Given the description of an element on the screen output the (x, y) to click on. 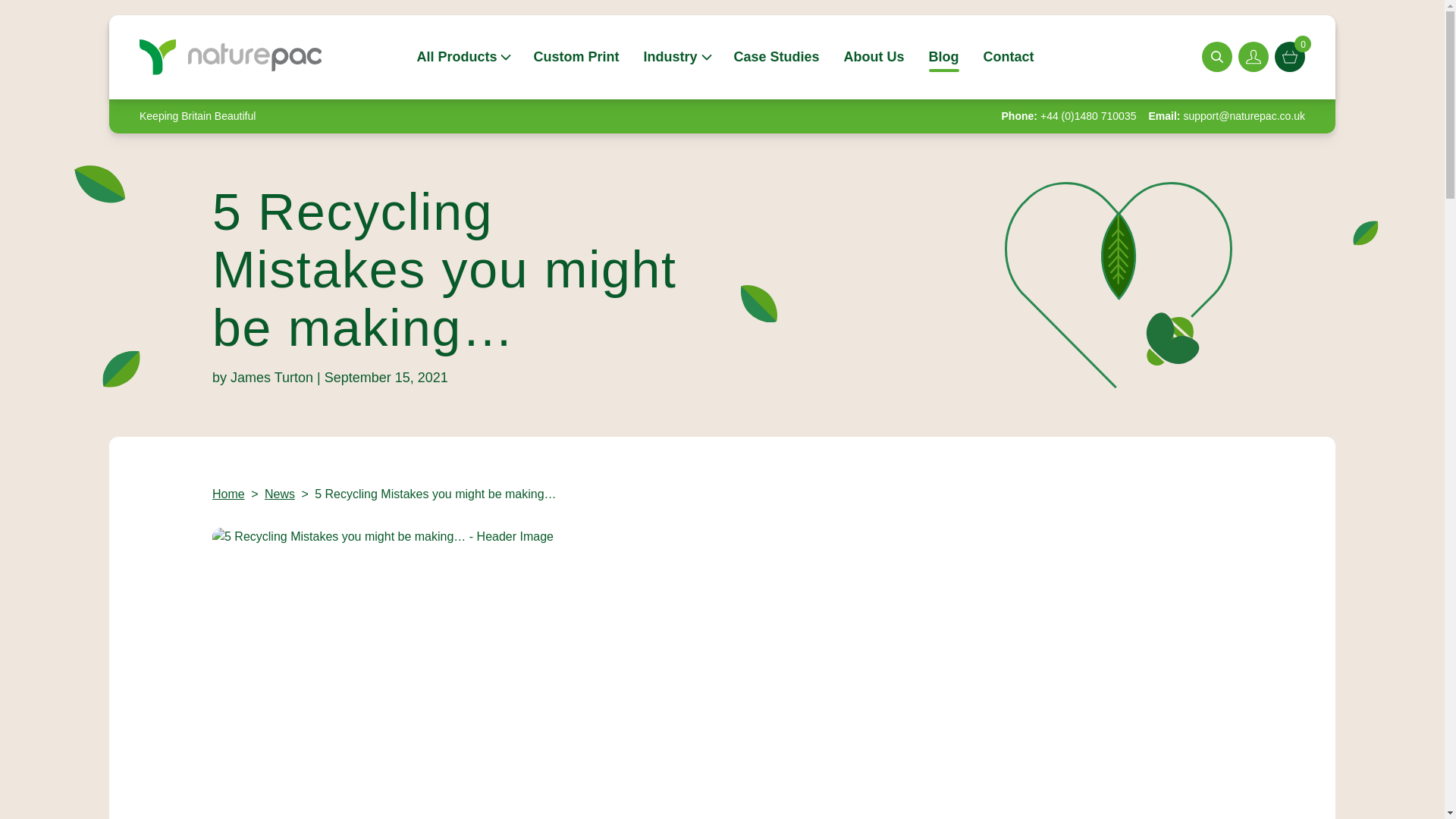
All Products (462, 56)
Cart button (1289, 56)
account link (1253, 56)
Home (228, 493)
